Given the description of an element on the screen output the (x, y) to click on. 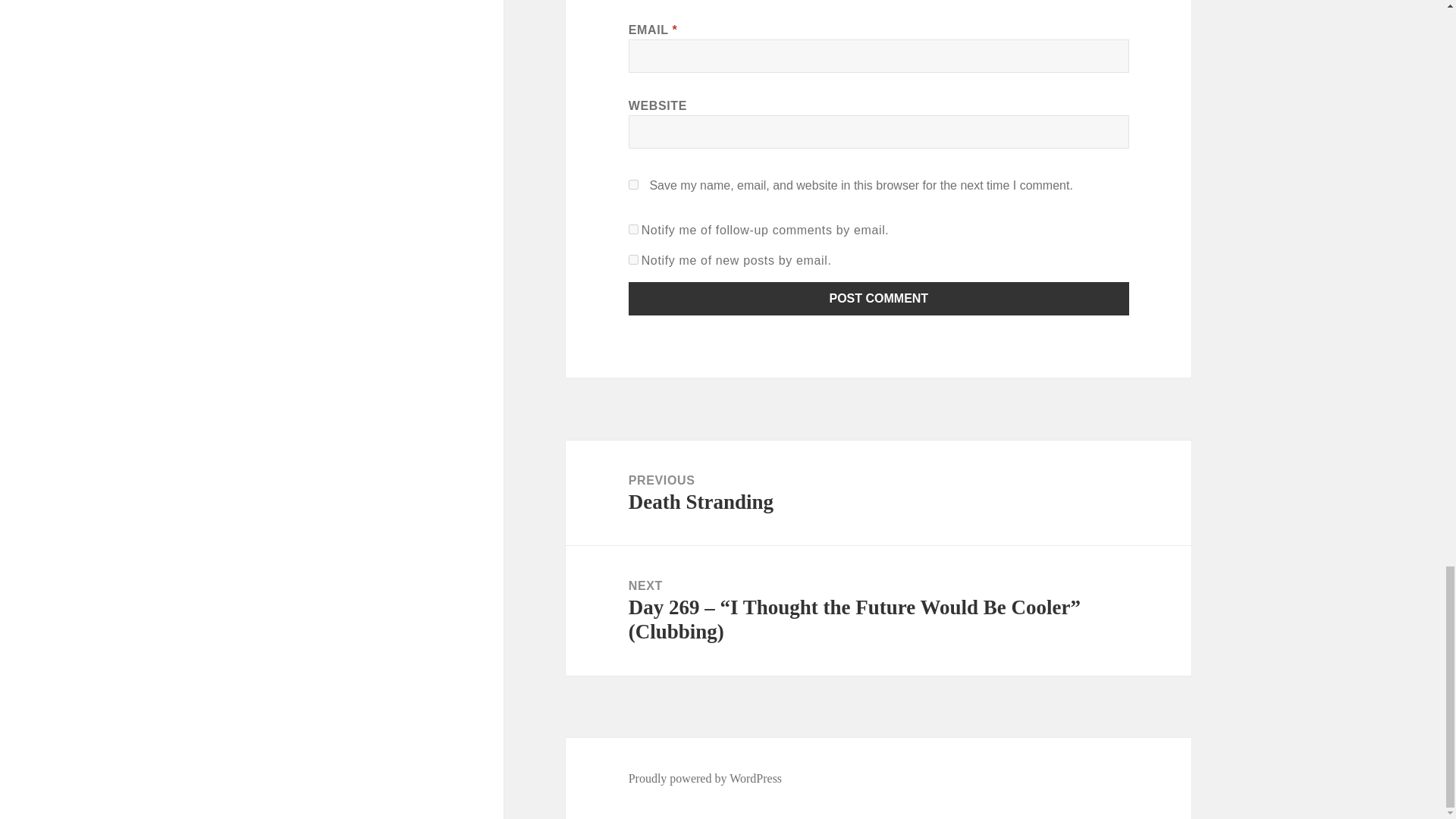
yes (633, 184)
Post Comment (878, 493)
subscribe (878, 298)
subscribe (633, 229)
Proudly powered by WordPress (633, 259)
Post Comment (704, 778)
